Given the description of an element on the screen output the (x, y) to click on. 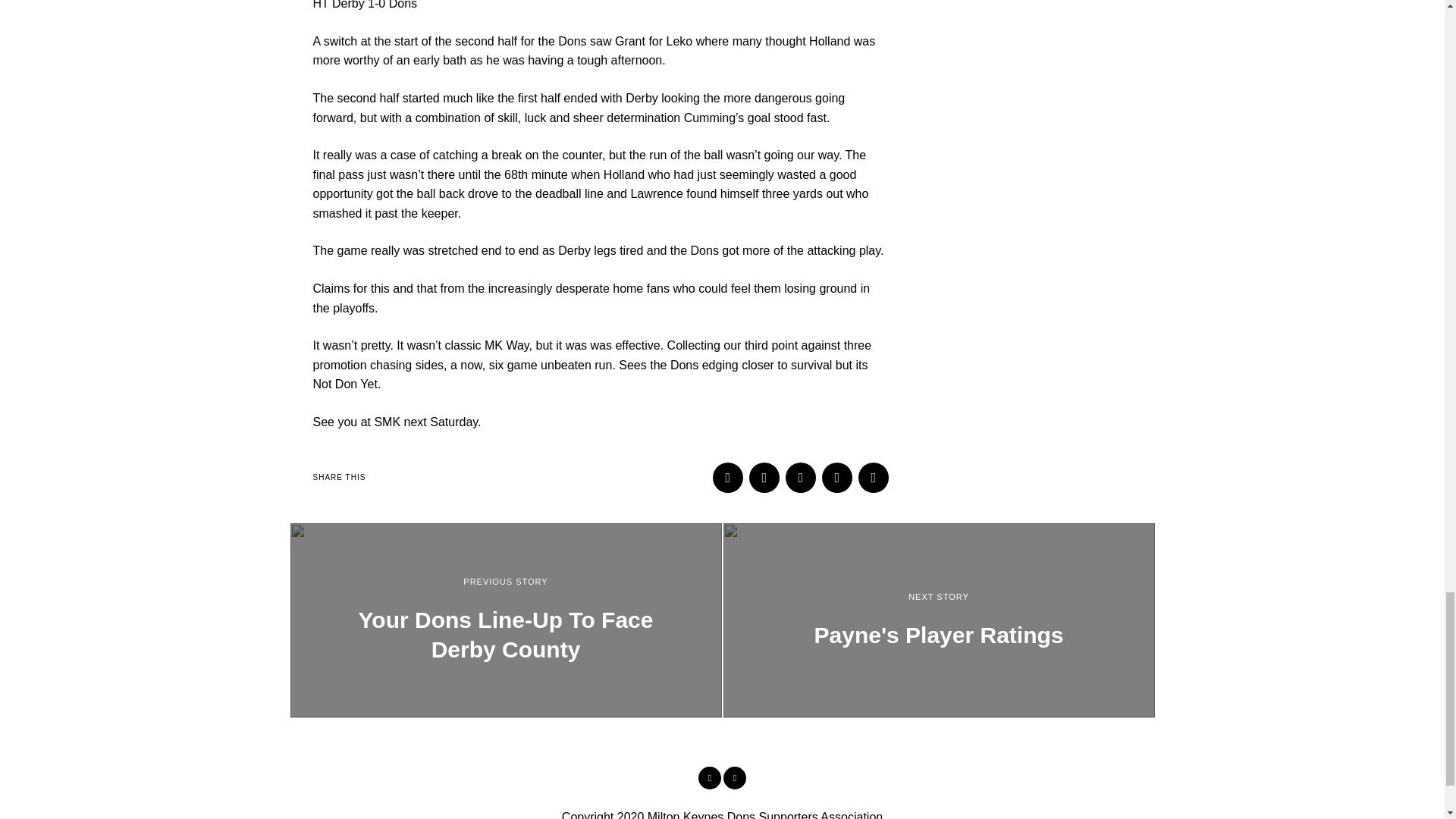
Messenger (763, 477)
Email (873, 477)
Twitter (734, 777)
Facebook (709, 777)
Facebook (727, 477)
Whatsapp (836, 477)
Twitter (800, 477)
